Given the description of an element on the screen output the (x, y) to click on. 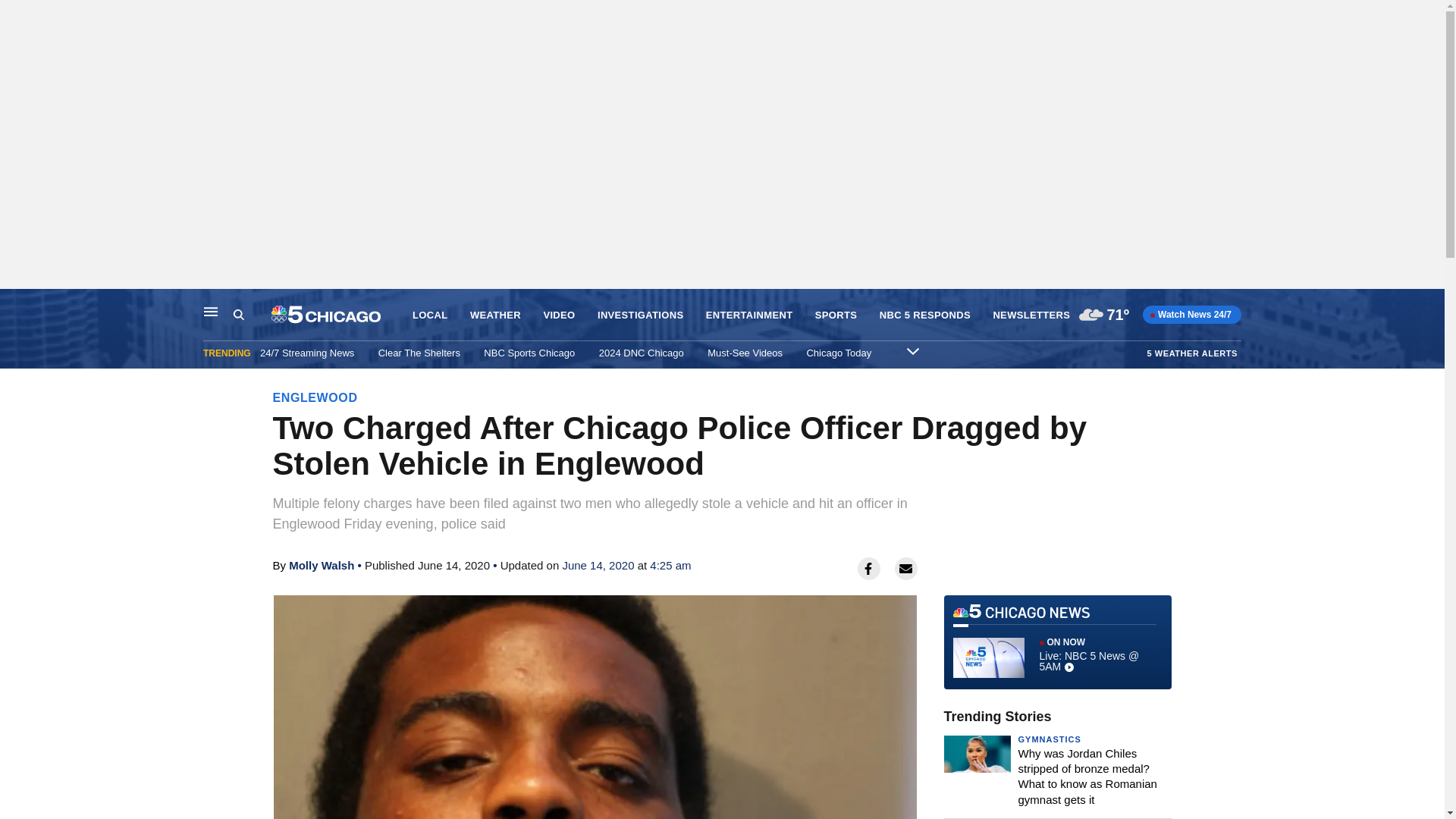
5 WEATHER ALERTS (1192, 352)
SPORTS (836, 315)
LOCAL (429, 315)
Must-See Videos (745, 352)
Main Navigation (210, 311)
Expand (912, 350)
2024 DNC Chicago (641, 352)
Molly Walsh (320, 564)
Clear The Shelters (419, 352)
INVESTIGATIONS (639, 315)
